Given the description of an element on the screen output the (x, y) to click on. 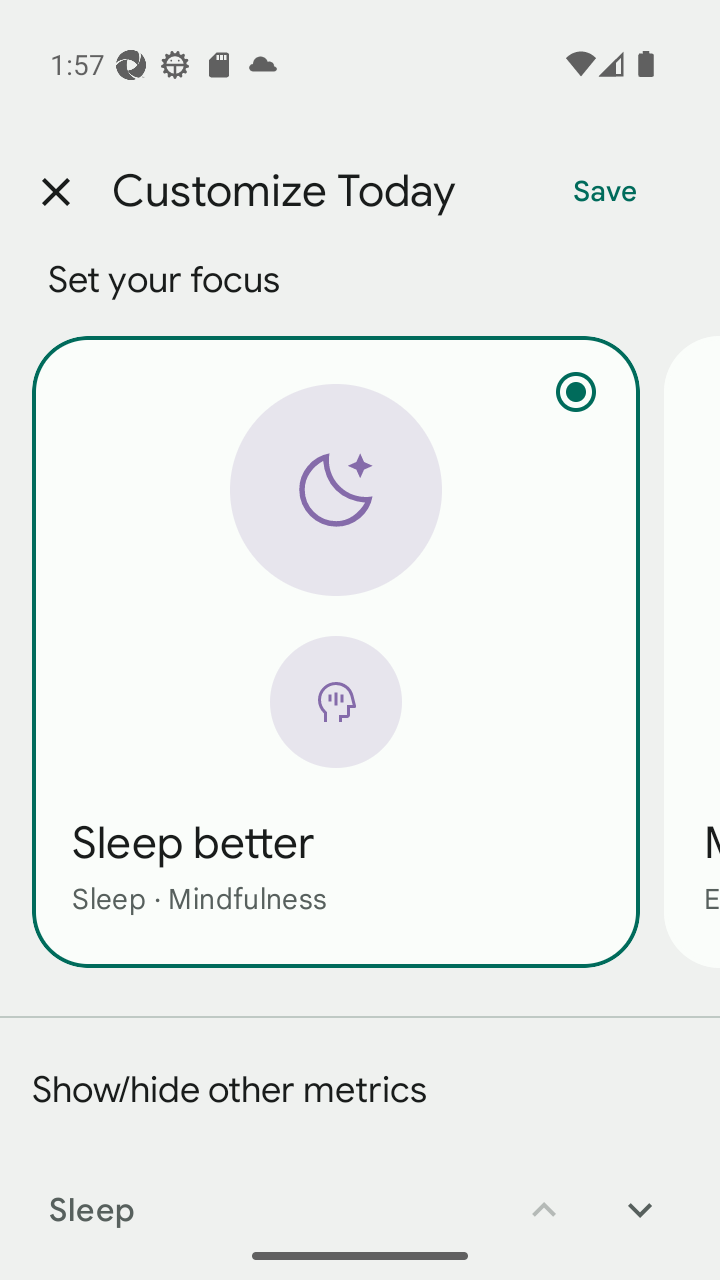
Close (55, 191)
Save (605, 191)
Sleep better Sleep · Mindfulness (335, 651)
Move Sleep up (543, 1196)
Move Sleep down (639, 1196)
